Given the description of an element on the screen output the (x, y) to click on. 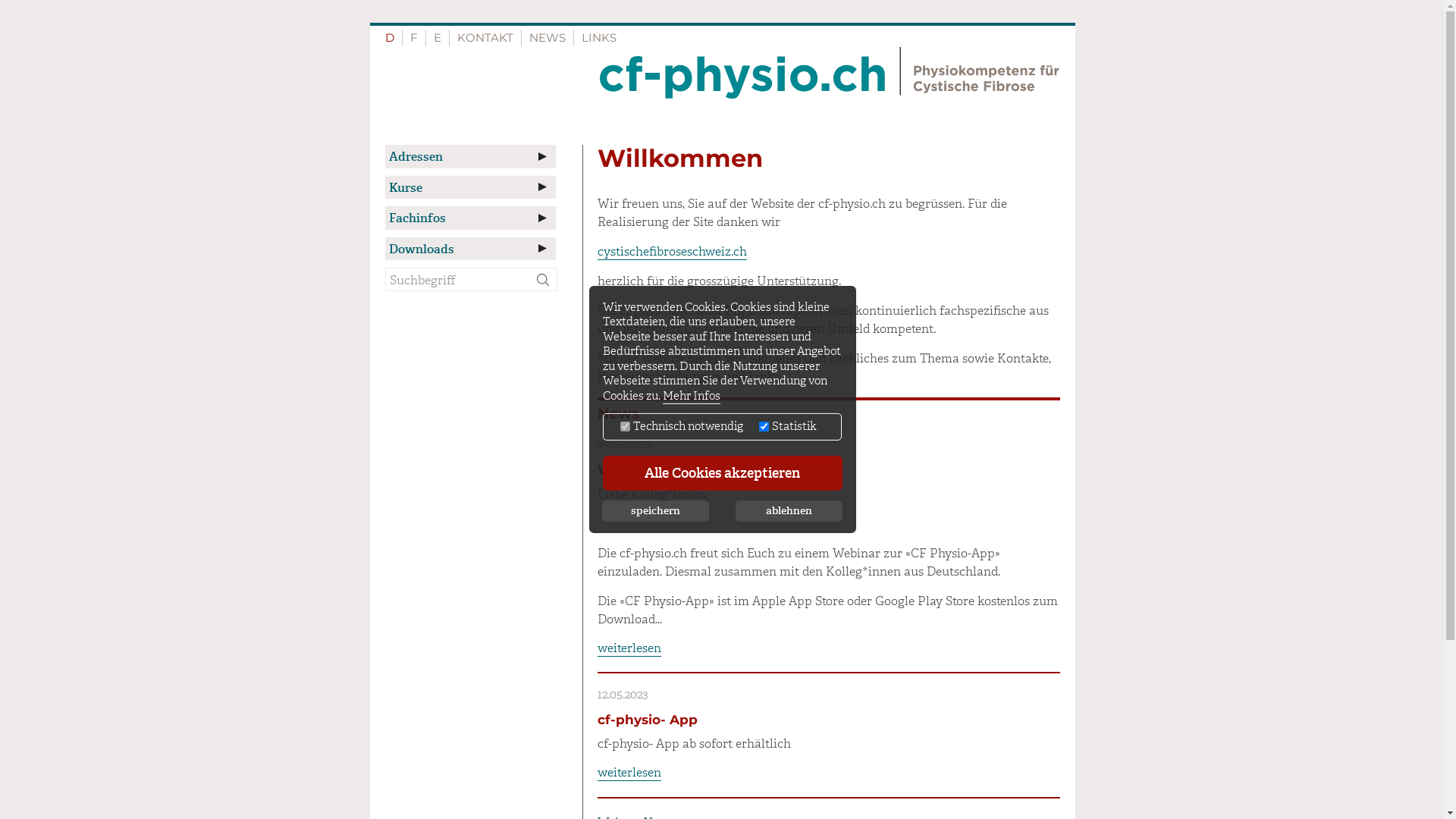
Mehr Infos Element type: text (691, 396)
weiterlesen Element type: text (629, 648)
Fachinfos Element type: text (470, 217)
Downloads Element type: text (470, 248)
KONTAKT Element type: text (484, 37)
Alle Cookies akzeptieren Element type: text (721, 472)
weiterlesen Element type: text (629, 772)
ablehnen Element type: text (788, 510)
E Element type: text (437, 37)
LINKS Element type: text (597, 37)
cf-physio- App Element type: text (647, 719)
Webinar Element type: text (626, 468)
F Element type: text (413, 37)
Adressen Element type: text (470, 155)
Kurse Element type: text (470, 186)
NEWS Element type: text (547, 37)
D Element type: text (389, 37)
speichern Element type: text (655, 510)
cystischefibroseschweiz.ch Element type: text (671, 251)
